Given the description of an element on the screen output the (x, y) to click on. 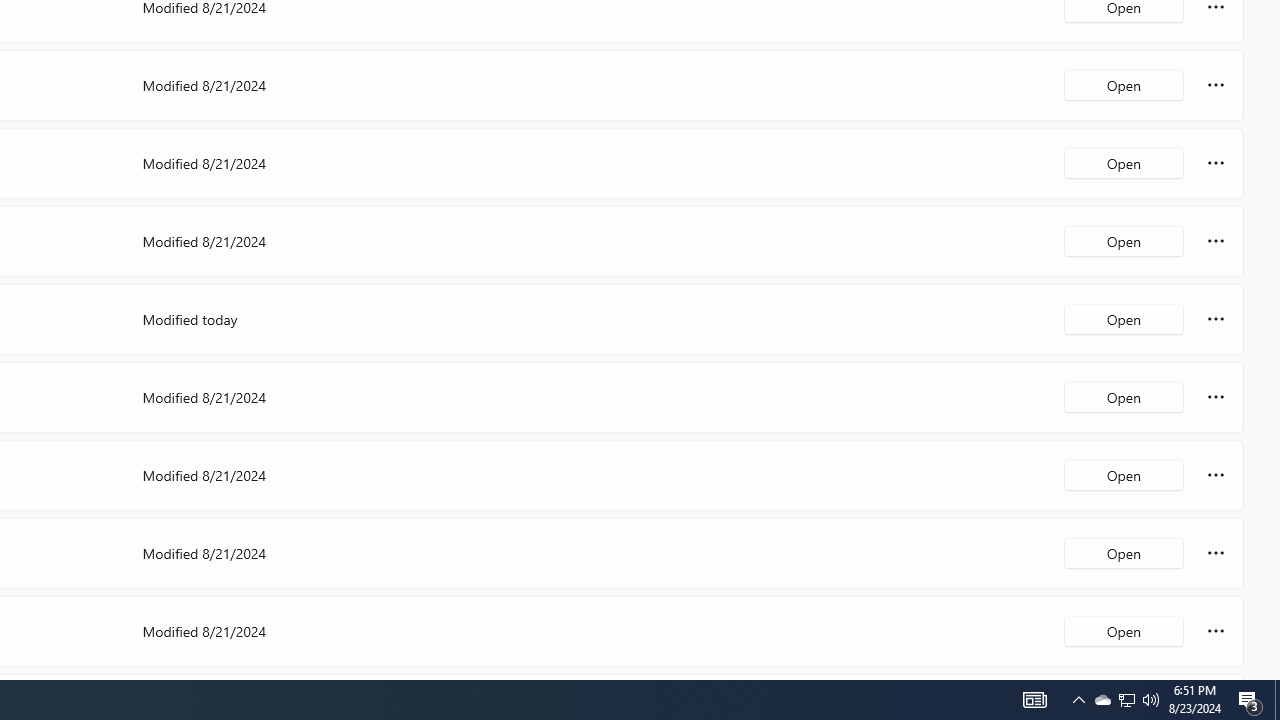
More options (1215, 630)
Open (1123, 630)
